Given the description of an element on the screen output the (x, y) to click on. 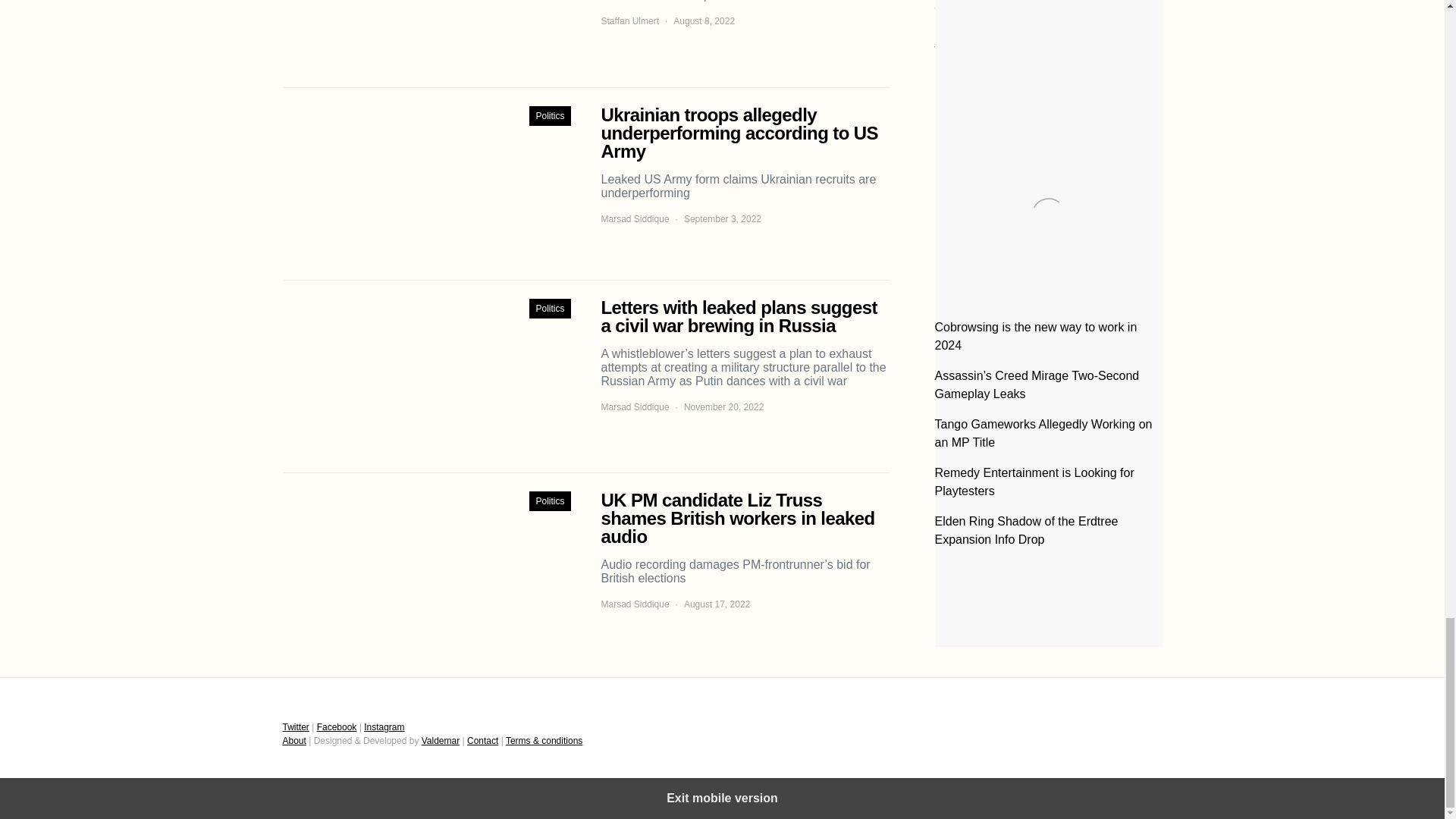
View all posts by Staffan Ulmert (628, 20)
Staffan Ulmert (628, 20)
Marsad Siddique (633, 219)
View all posts by Marsad Siddique (633, 407)
View all posts by Marsad Siddique (633, 219)
Politics (549, 116)
View all posts by Marsad Siddique (633, 603)
